Given the description of an element on the screen output the (x, y) to click on. 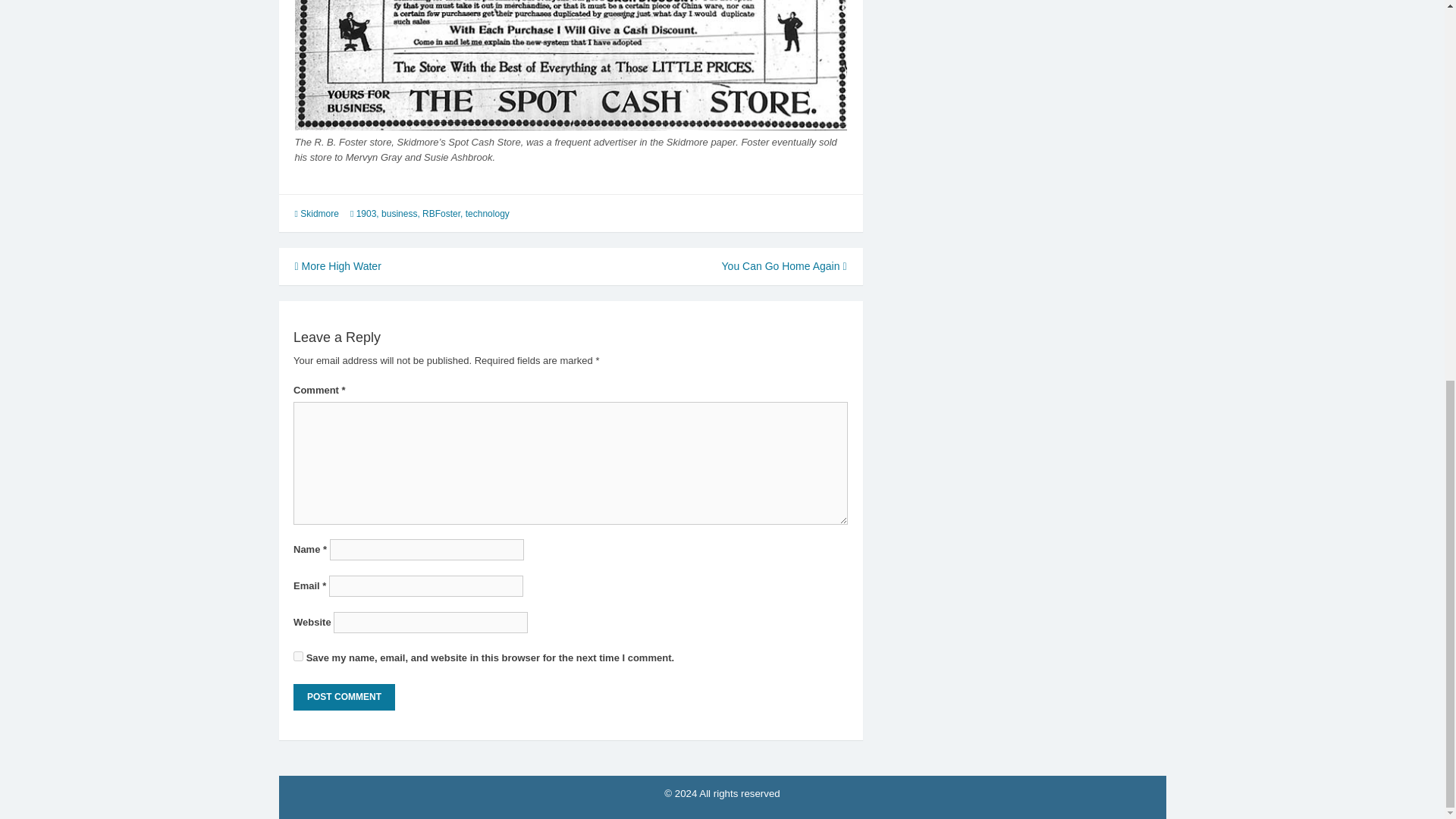
Post Comment (344, 696)
Skidmore (319, 213)
You Can Go Home Again (784, 265)
RBFoster (441, 213)
1903 (366, 213)
More High Water (337, 265)
Post Comment (344, 696)
technology (487, 213)
business (398, 213)
yes (298, 655)
